Given the description of an element on the screen output the (x, y) to click on. 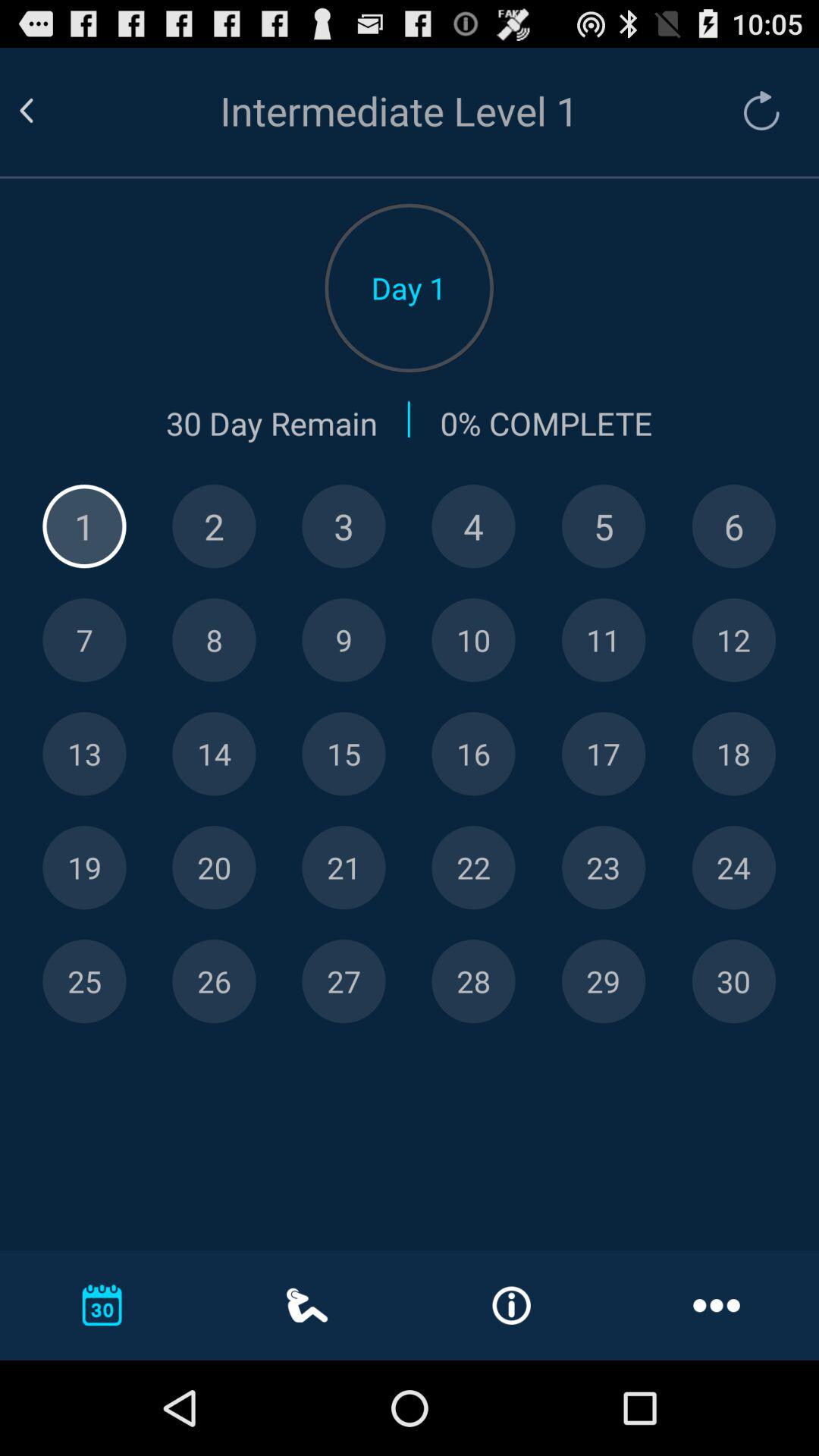
refresh screen (754, 110)
